Given the description of an element on the screen output the (x, y) to click on. 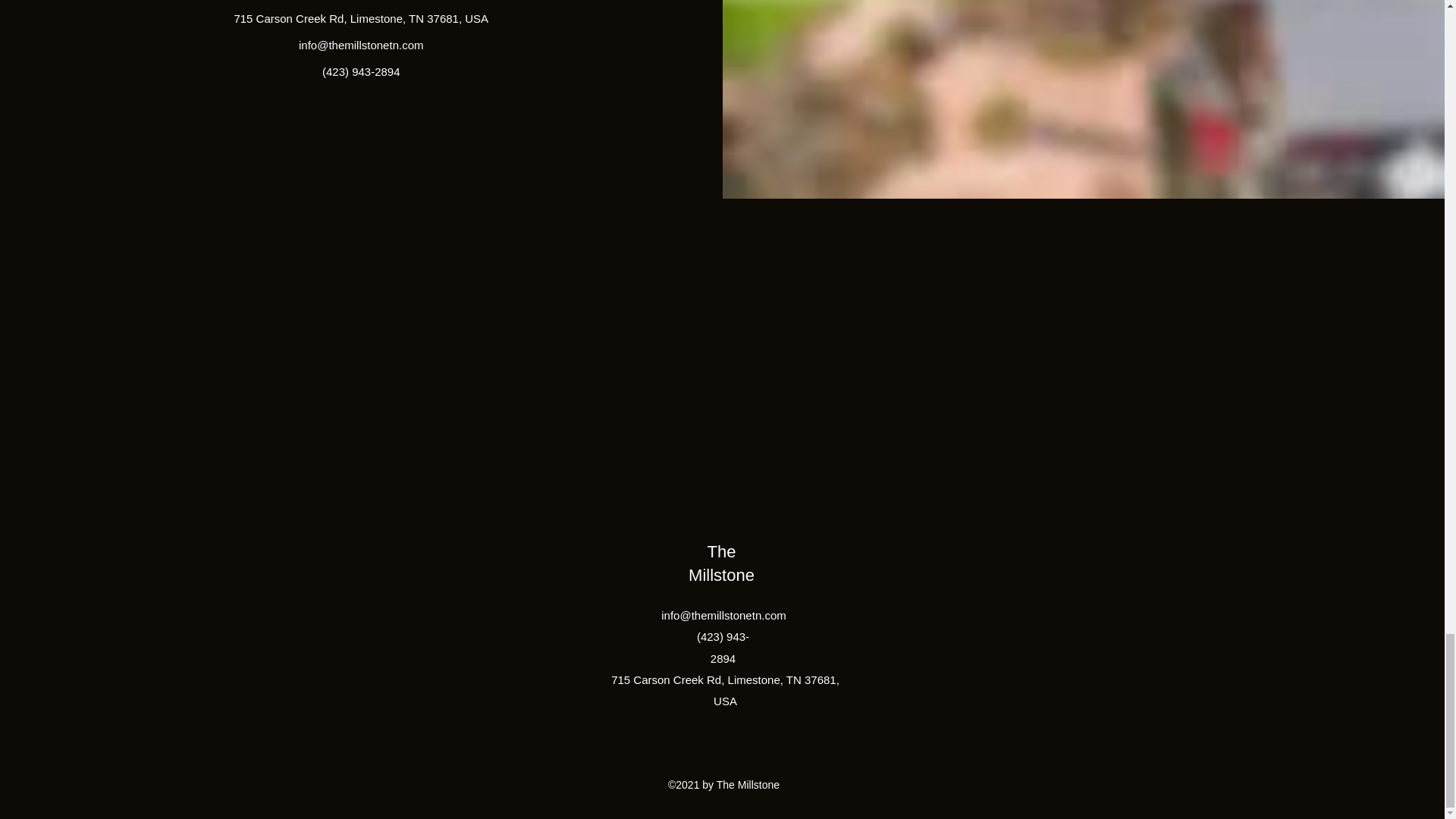
The Millstone (721, 563)
